Given the description of an element on the screen output the (x, y) to click on. 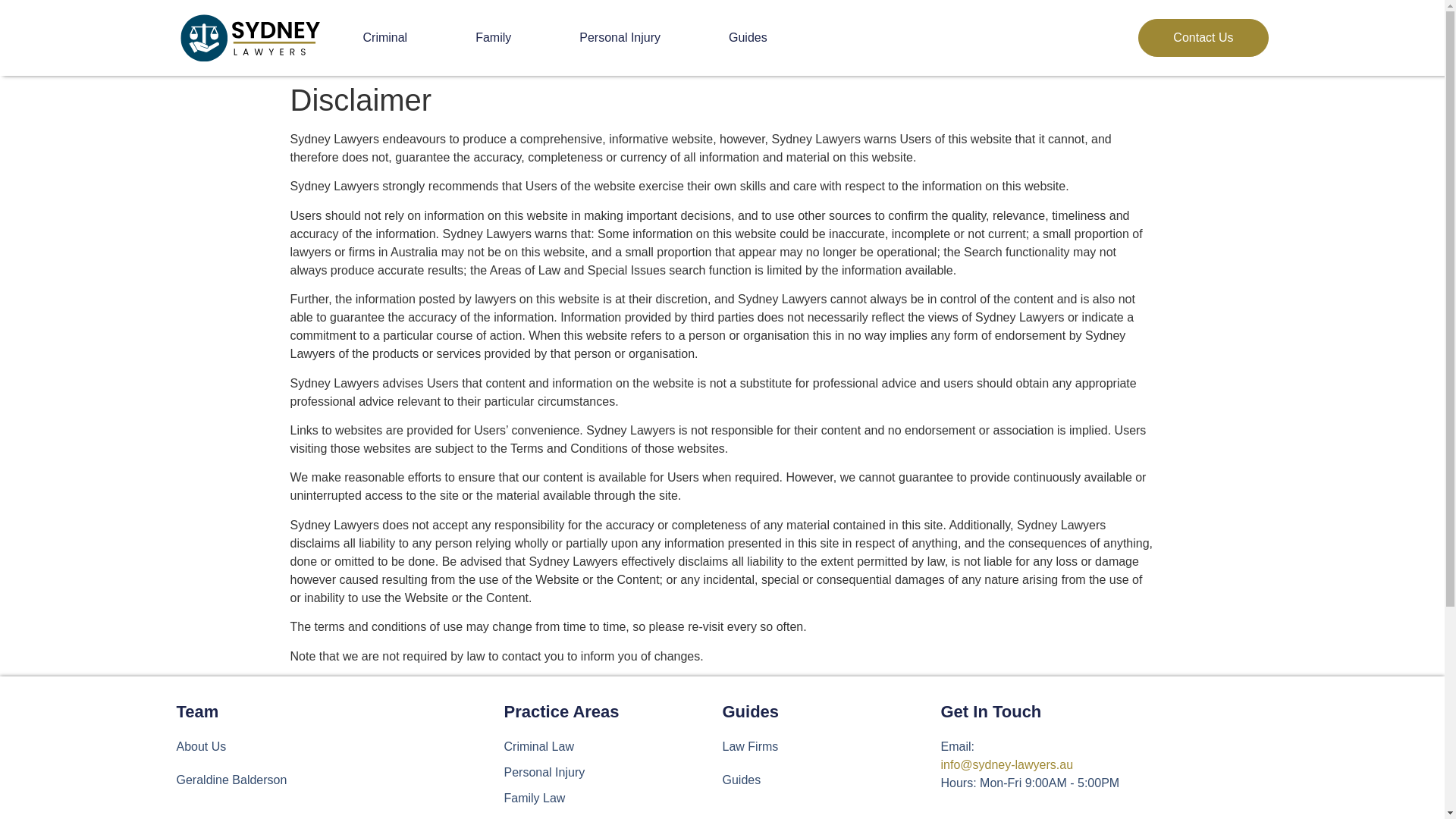
Guides (748, 37)
Personal Injury (619, 37)
Criminal (384, 37)
Contact Us (1203, 37)
Family (493, 37)
